Given the description of an element on the screen output the (x, y) to click on. 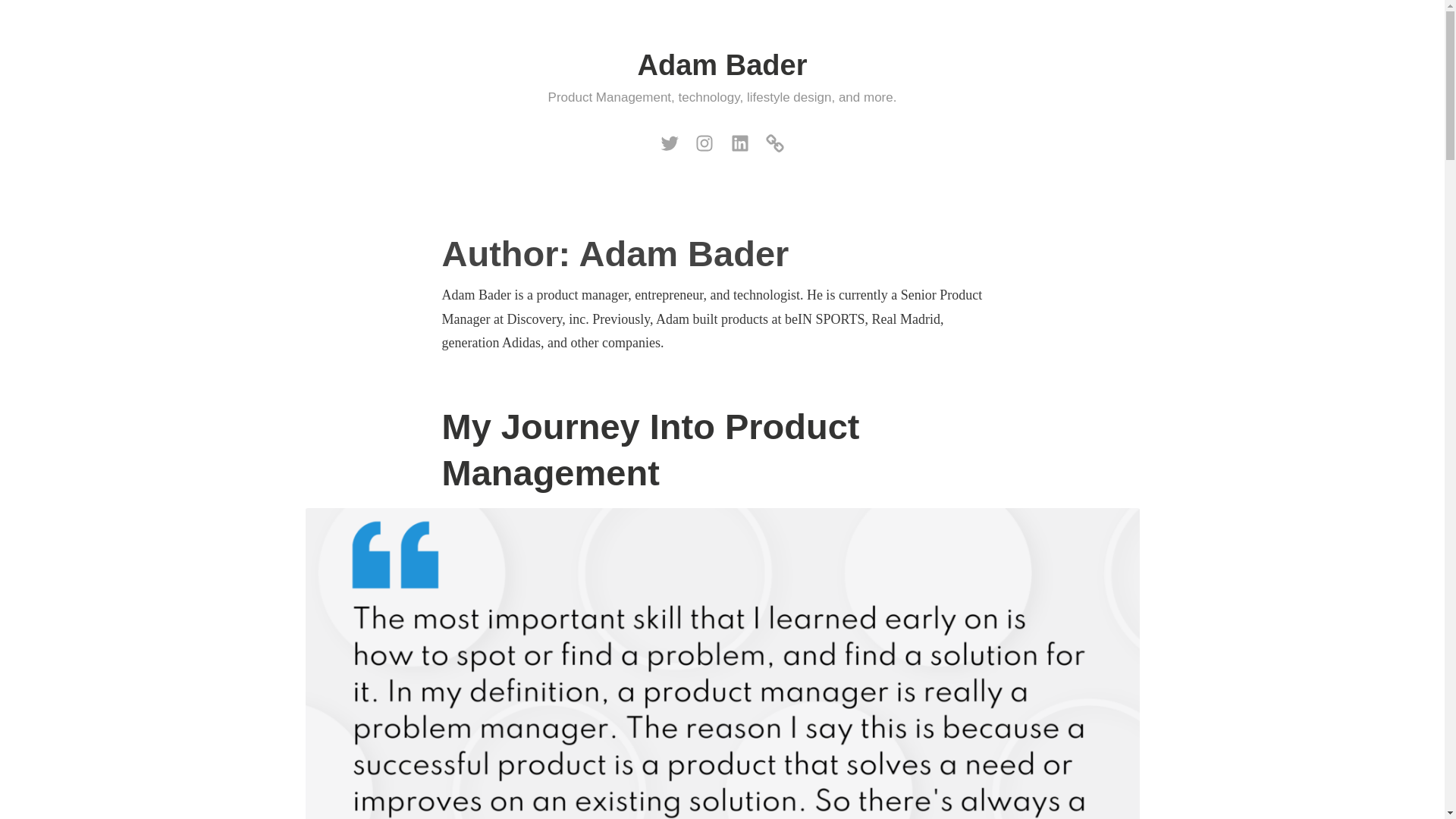
LinkedIn (739, 140)
Instagram (704, 140)
My Journey Into Product Management (650, 449)
RSS (774, 140)
Adam Bader (722, 65)
Twitter (669, 140)
